Given the description of an element on the screen output the (x, y) to click on. 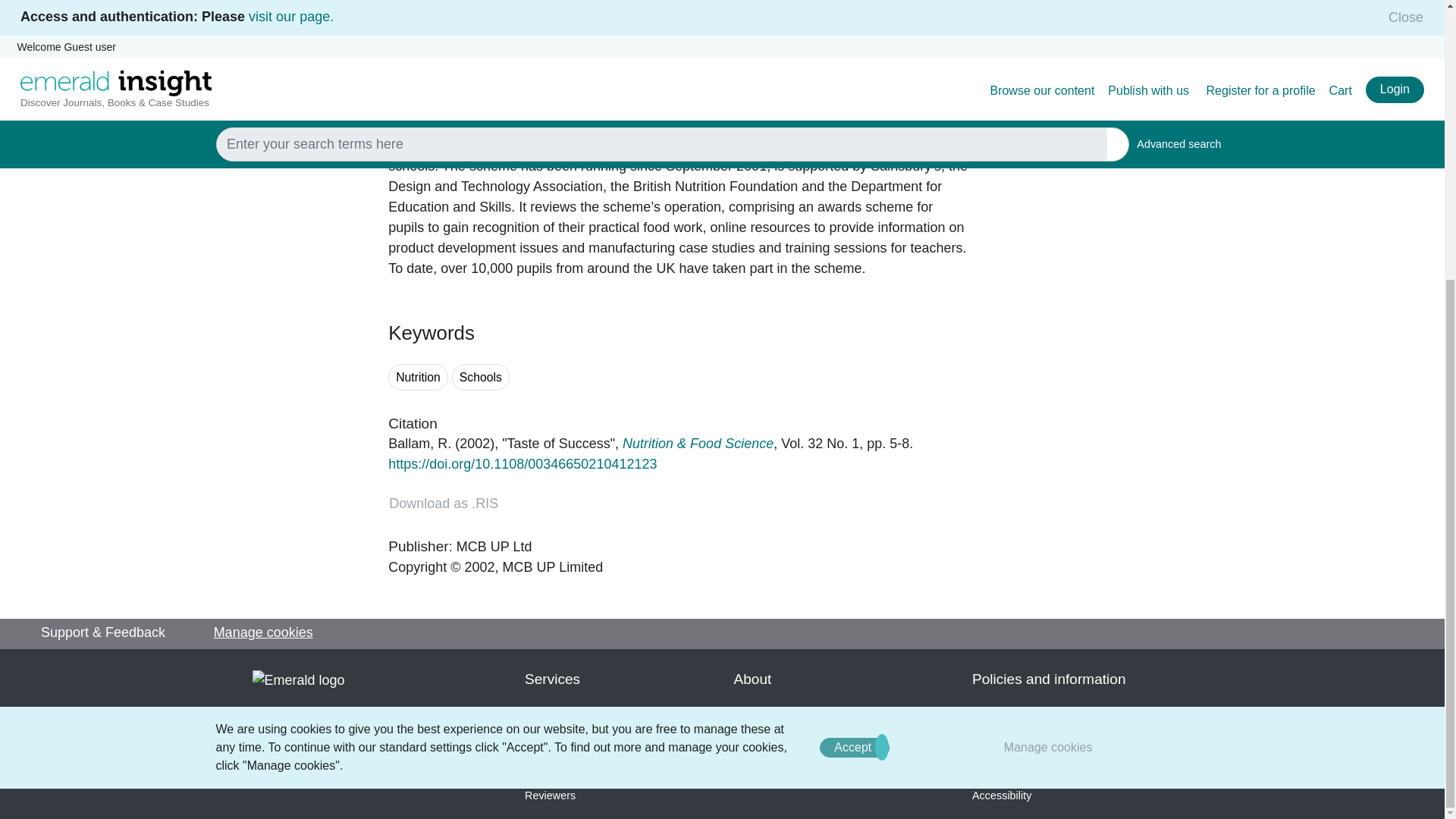
Manage cookies (1047, 330)
Search for keyword Nutrition (418, 376)
Accept (853, 330)
Roy Ballam (419, 443)
Search for keyword Schools (480, 376)
International Standard Serial Number. (404, 12)
